Given the description of an element on the screen output the (x, y) to click on. 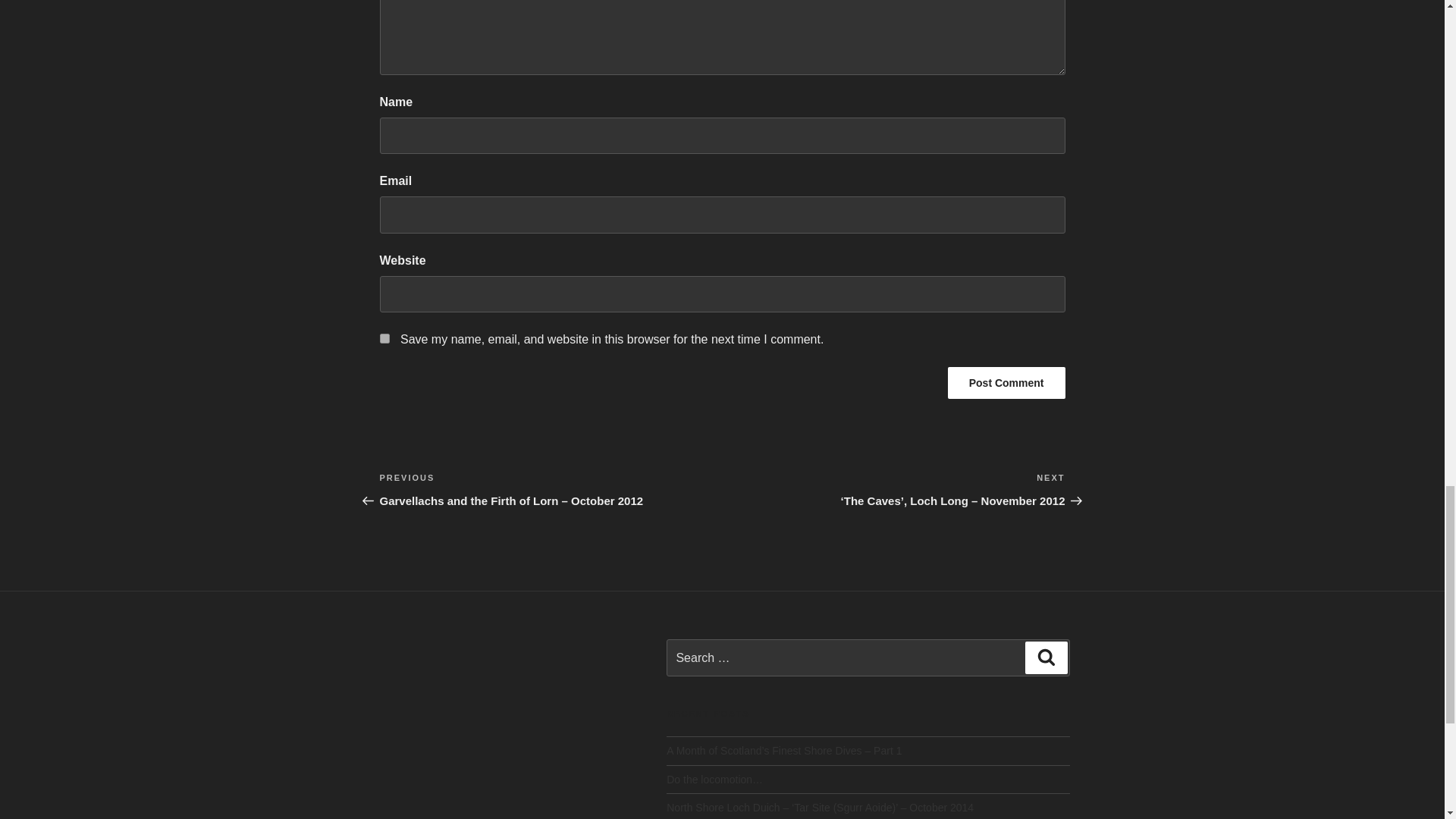
Post Comment (1006, 382)
yes (383, 338)
Post Comment (1006, 382)
